Given the description of an element on the screen output the (x, y) to click on. 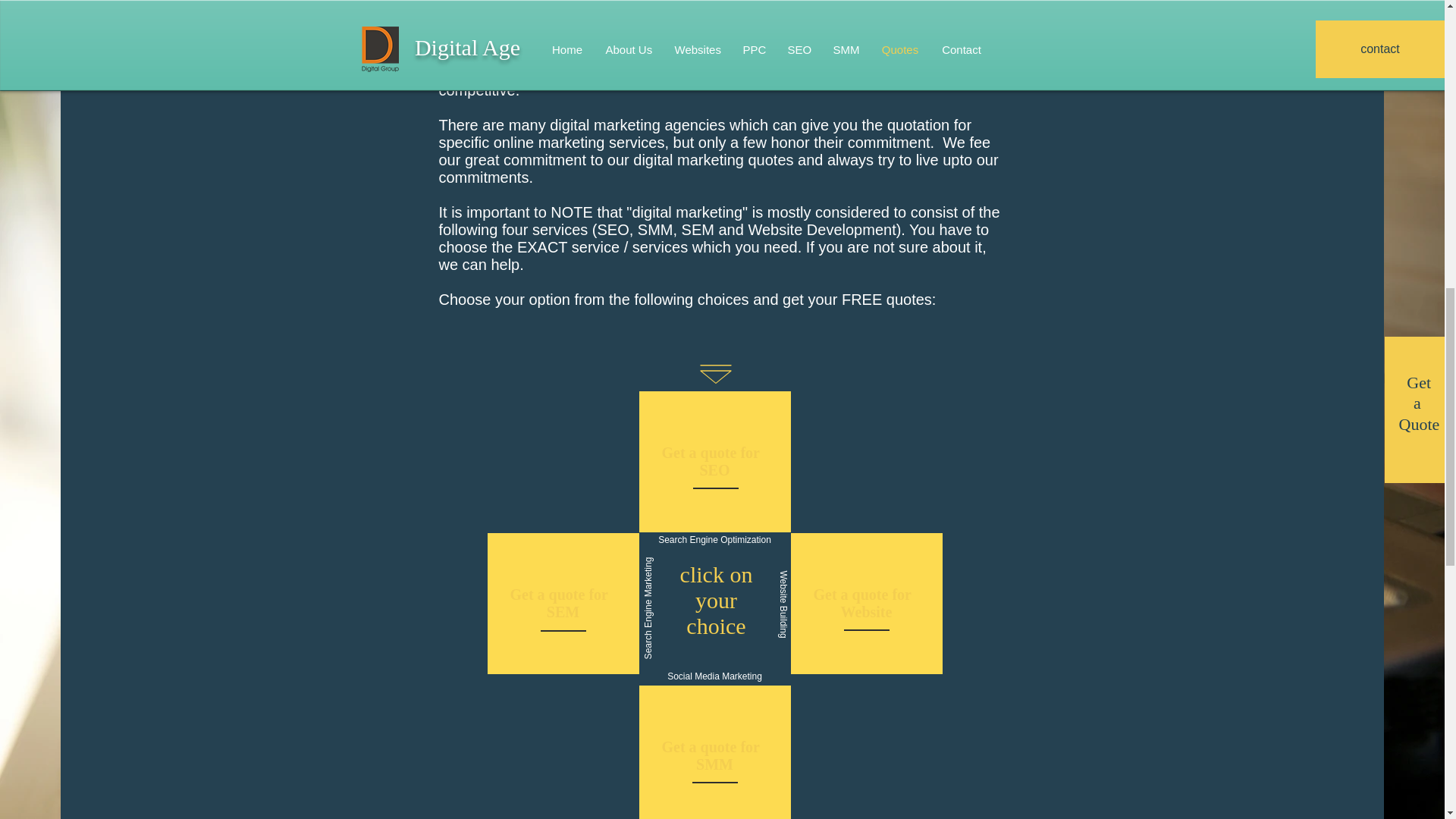
Get a quote for (558, 594)
SEM (563, 611)
Get a quote for (709, 746)
Get a quote for (861, 594)
Get a quote for (709, 452)
SEO (713, 469)
Website (866, 611)
SMM (714, 764)
SMM (461, 5)
